Given the description of an element on the screen output the (x, y) to click on. 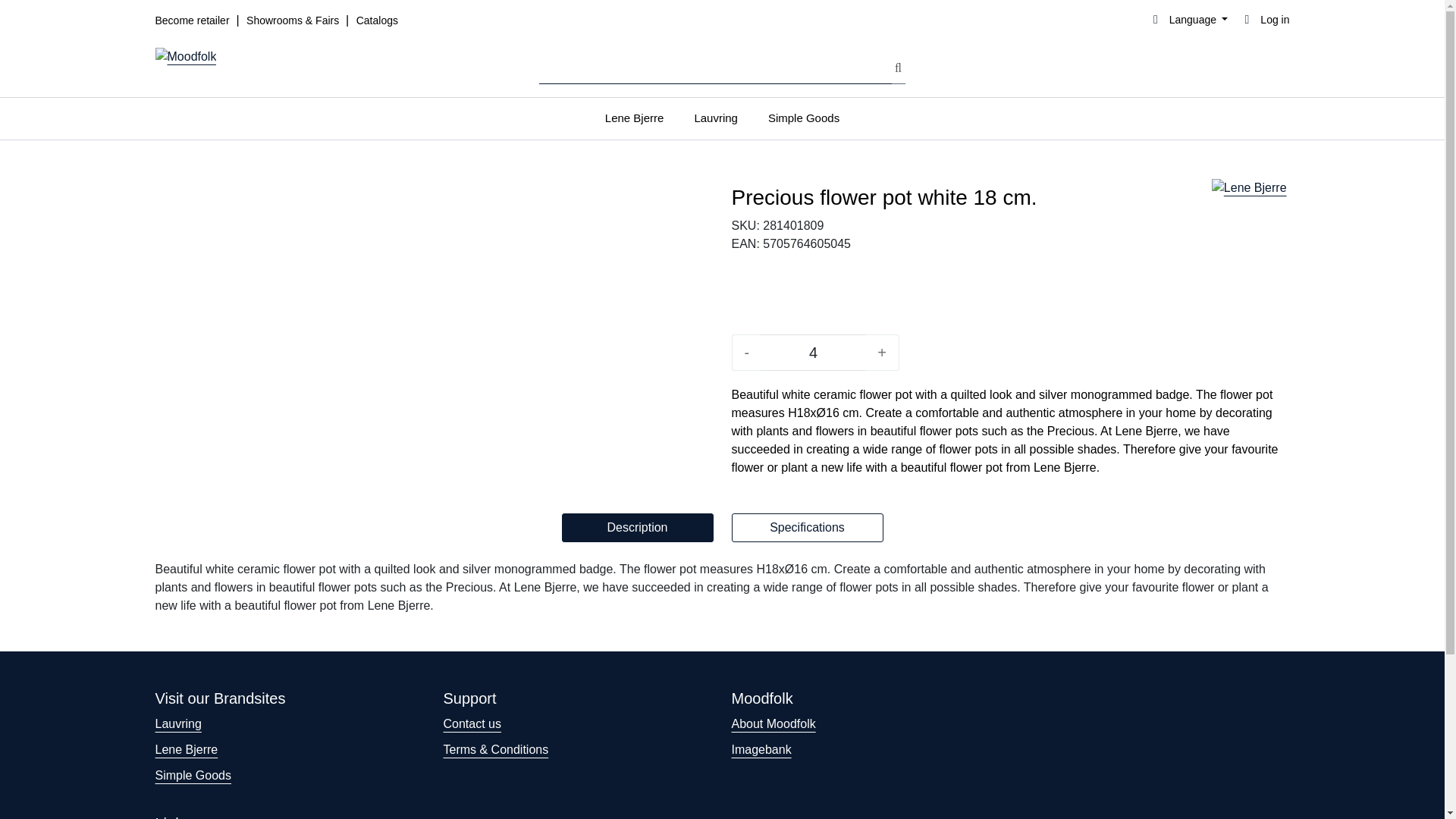
Simple Goods (192, 775)
4 (813, 352)
Log in (1264, 19)
Become retailer (192, 19)
Language (1188, 19)
Contact us (471, 723)
Lene Bjerre (1250, 218)
Simple Goods (803, 118)
Lene Bjerre (634, 118)
Imagebank (760, 748)
